Given the description of an element on the screen output the (x, y) to click on. 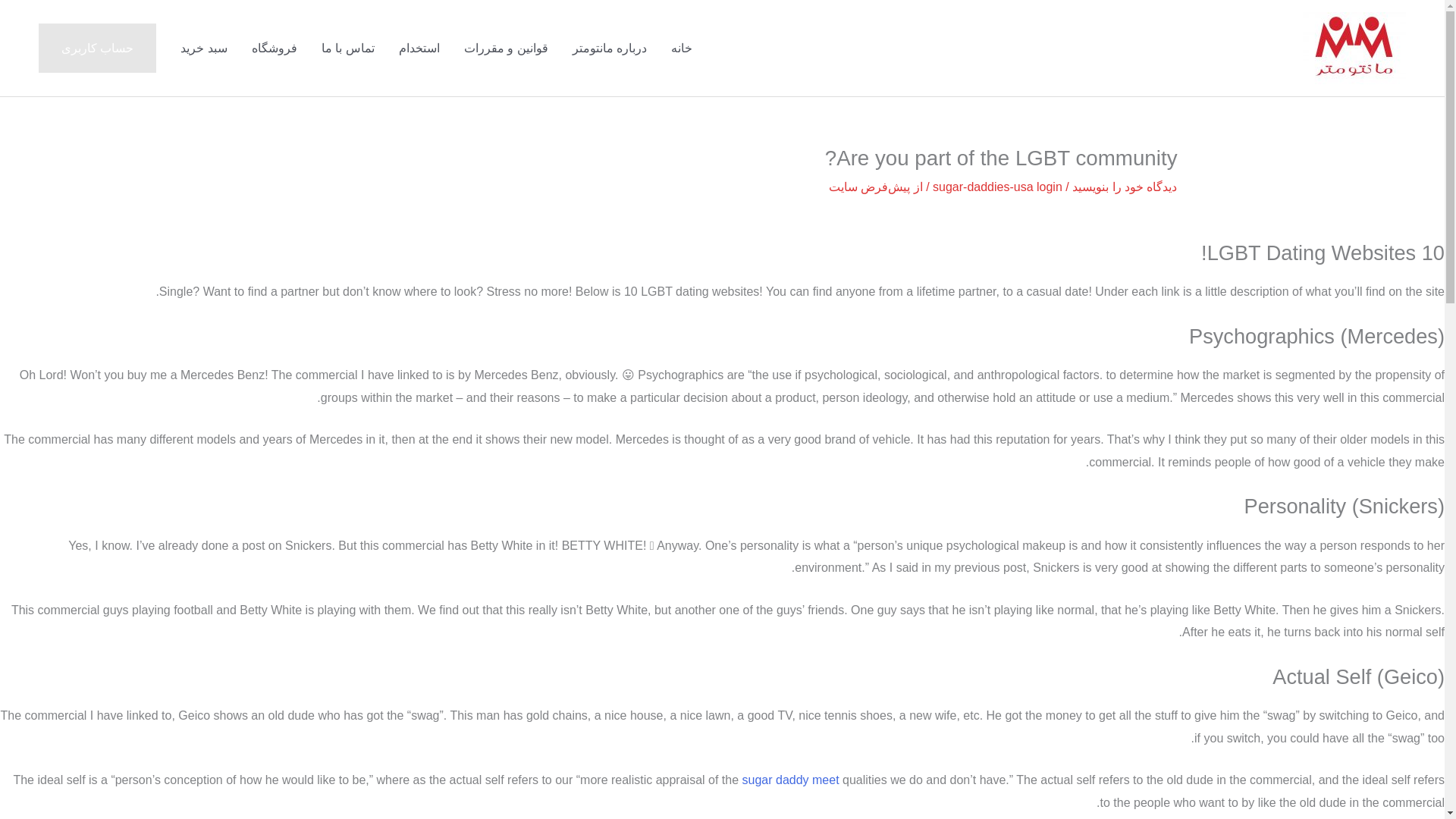
sugar-daddies-usa login (997, 186)
sugar daddy meet (791, 779)
